Given the description of an element on the screen output the (x, y) to click on. 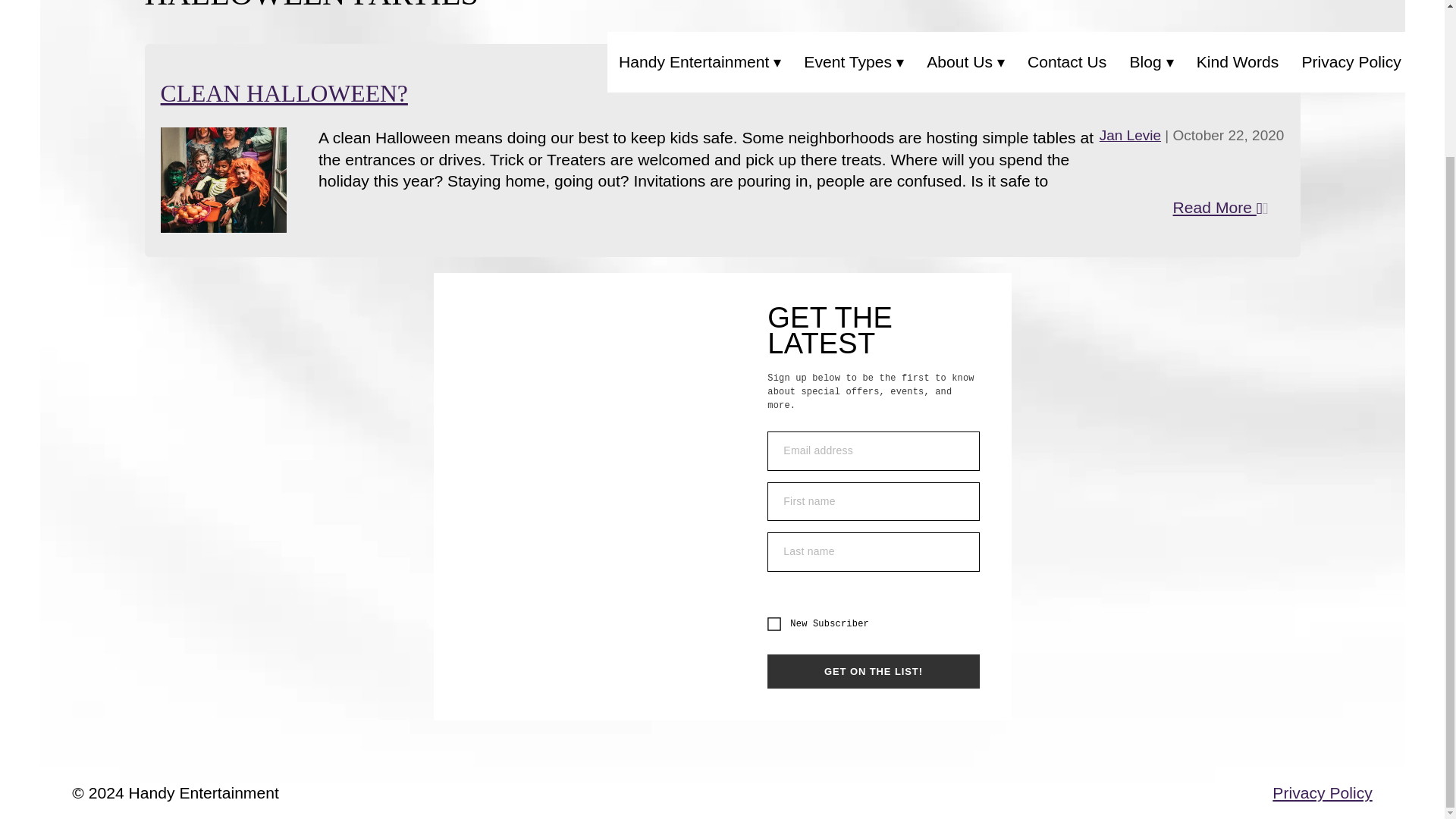
Clean Halloween? (283, 93)
Posts by Jan Levie (1129, 135)
October 22, 2020 (1228, 135)
